Given the description of an element on the screen output the (x, y) to click on. 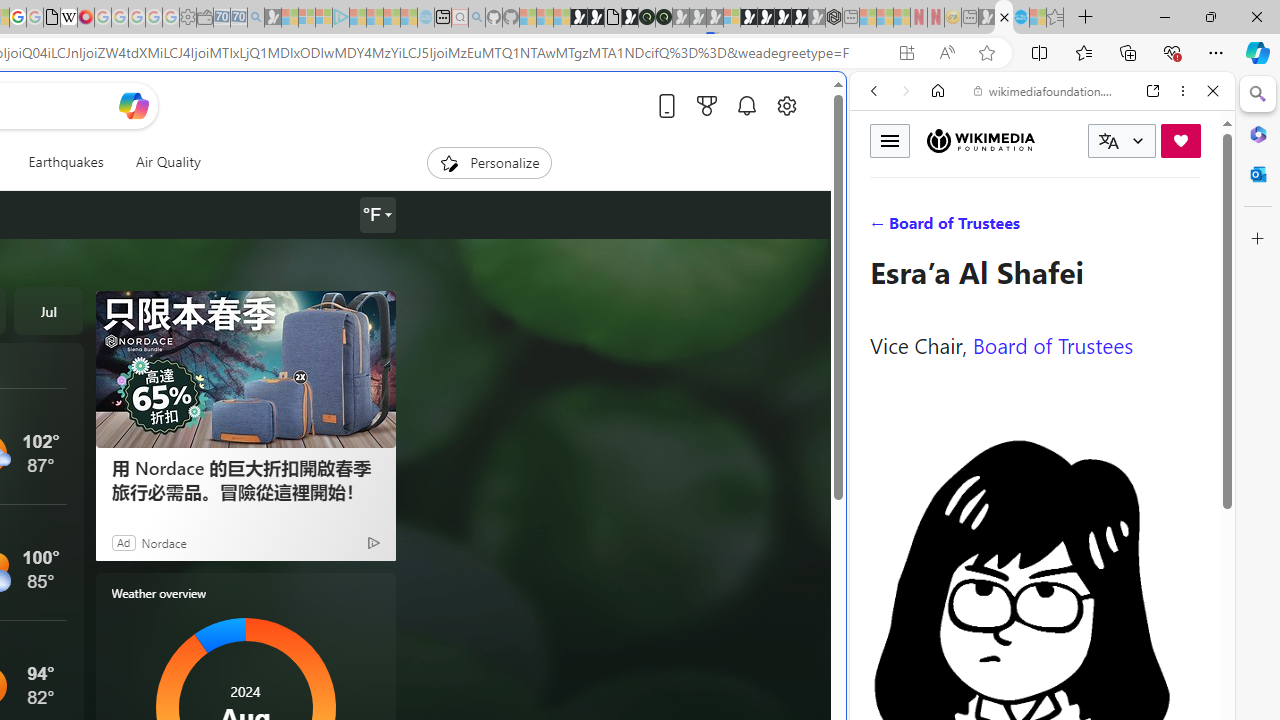
Wiktionary (1034, 669)
Search or enter web address (343, 191)
Personalize (488, 162)
Play Cave FRVR in your browser | Games from Microsoft Start (343, 426)
Preferences (1189, 228)
Forward (906, 91)
Home | Sky Blue Bikes - Sky Blue Bikes (687, 426)
